Given the description of an element on the screen output the (x, y) to click on. 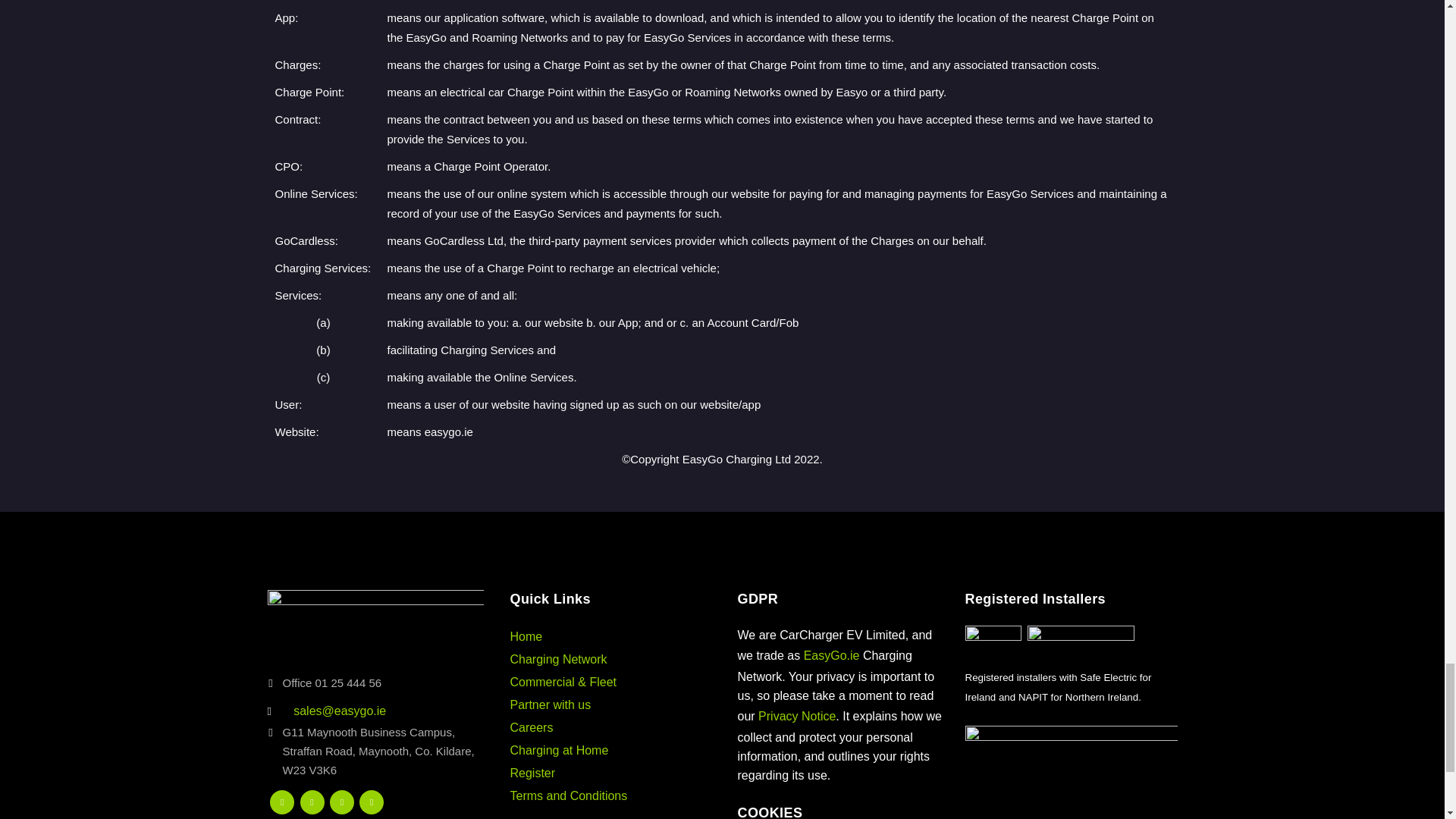
Terms and Conditions (568, 795)
Careers (531, 727)
Charging Network (558, 658)
Privacy Notice (796, 716)
Home (525, 635)
Register (531, 772)
EasyGo.ie (831, 655)
Partner with us (550, 704)
Charging at Home (558, 749)
